Given the description of an element on the screen output the (x, y) to click on. 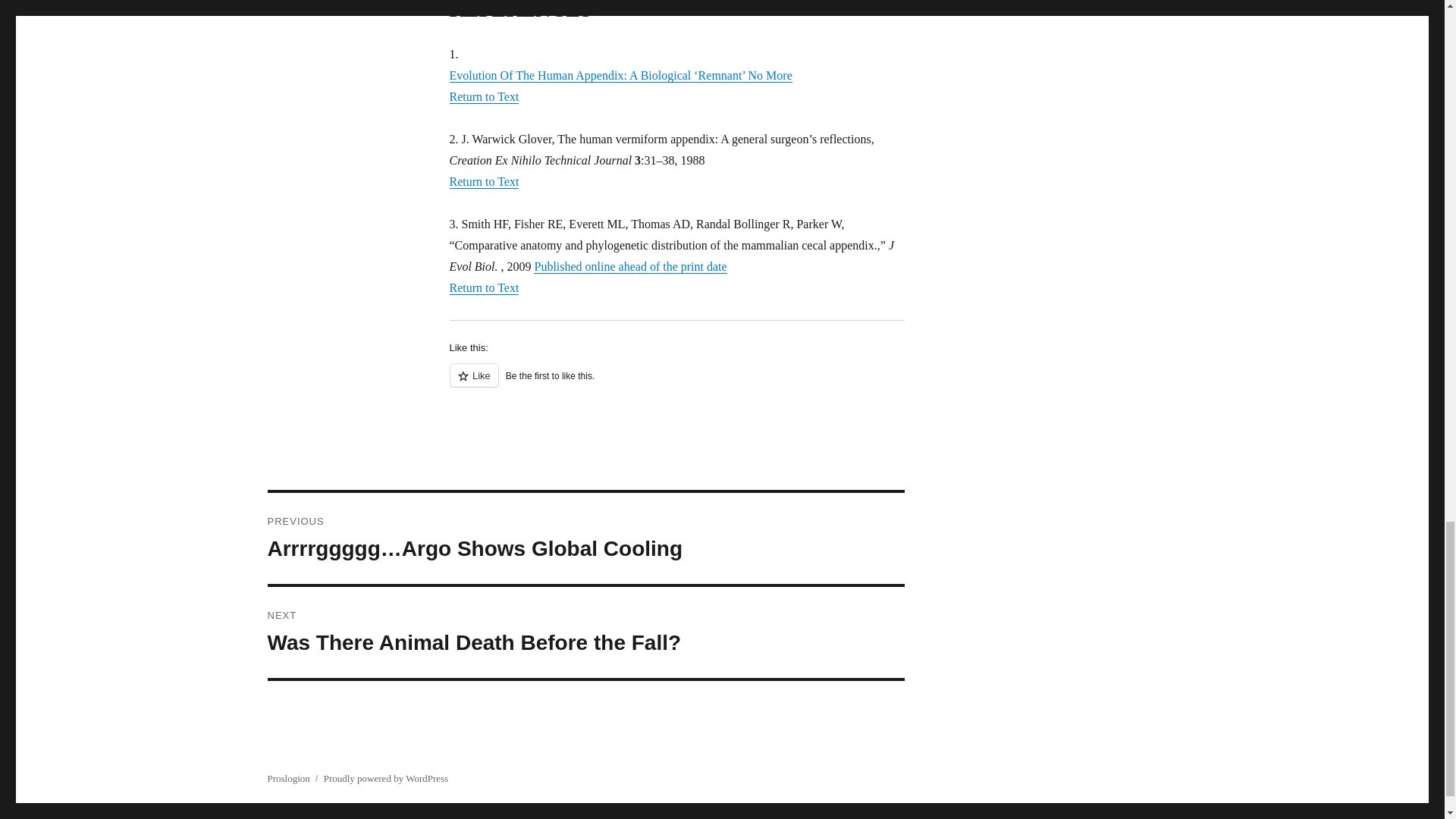
Published online ahead of the print date (630, 266)
Like or Reblog (585, 632)
Return to Text (676, 383)
Return to Text (483, 287)
Return to Text (483, 96)
